Given the description of an element on the screen output the (x, y) to click on. 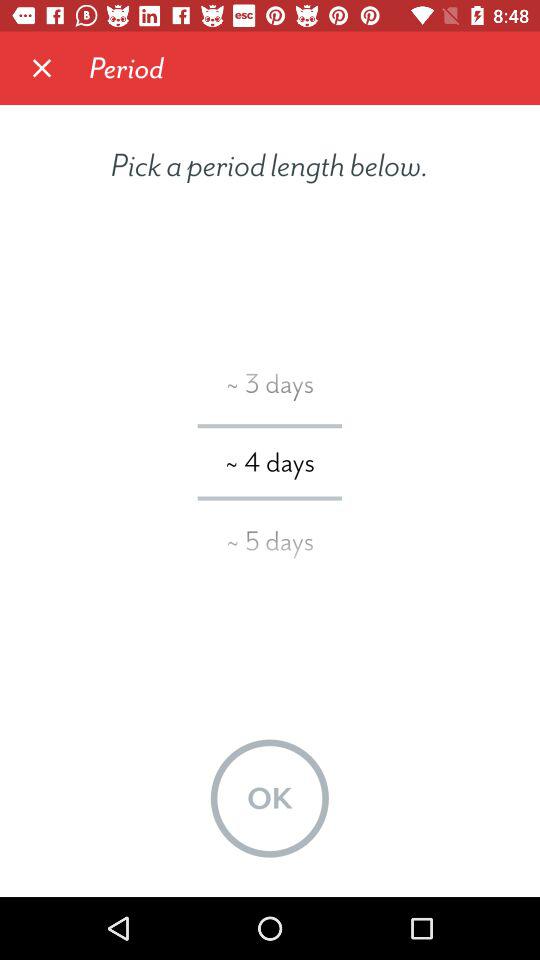
close the window (42, 68)
